Given the description of an element on the screen output the (x, y) to click on. 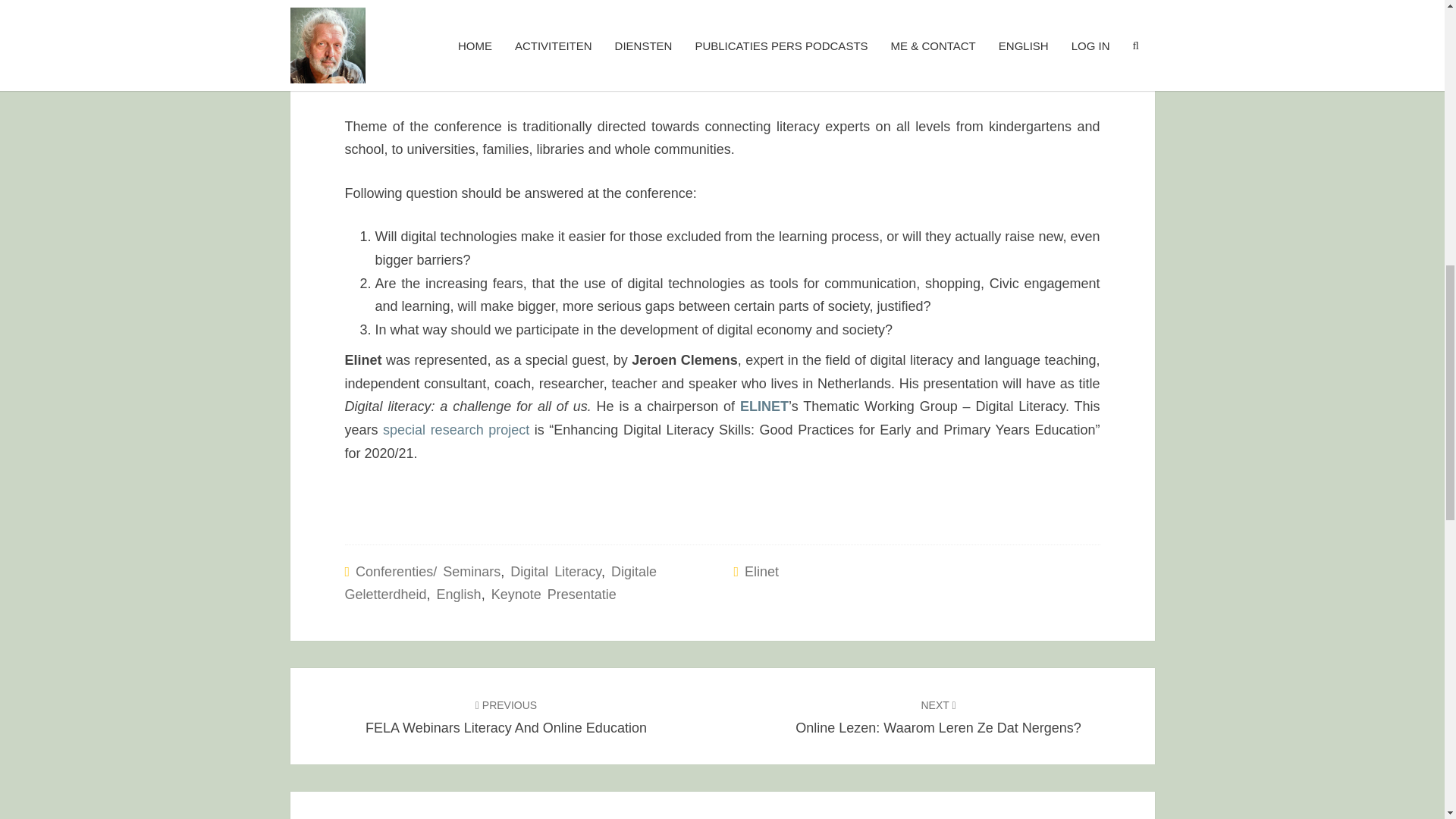
Elinet (505, 715)
English (937, 715)
Digitale Geletterdheid (761, 571)
Digital Literacy (458, 594)
special research project (499, 583)
Keynote Presentatie (556, 571)
ELINET (455, 429)
